Given the description of an element on the screen output the (x, y) to click on. 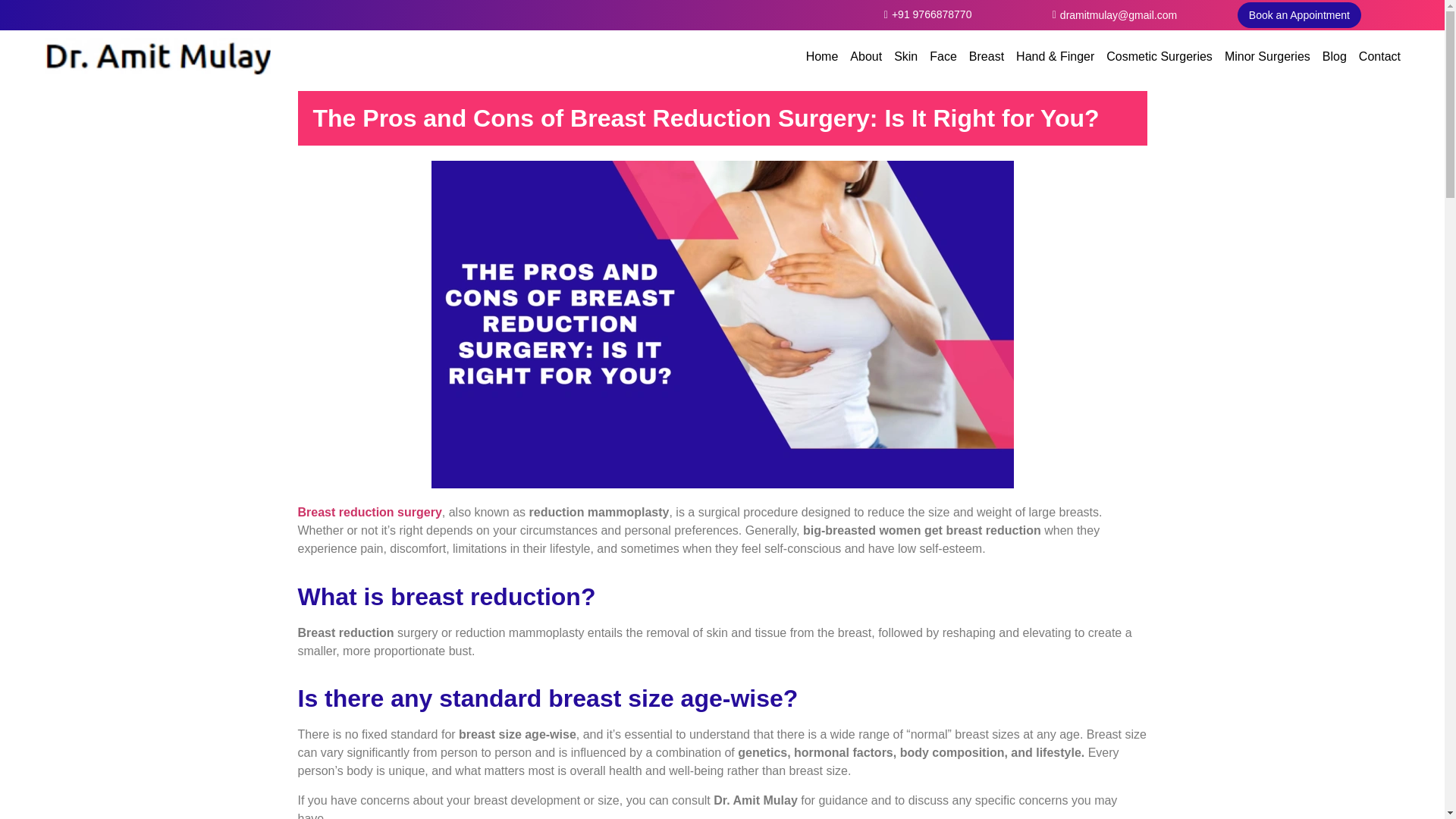
Home (821, 56)
Book an Appointment (1299, 14)
Cosmetic Surgeries (1159, 56)
Breast (986, 56)
Face (942, 56)
About (866, 56)
Skin (905, 56)
